Given the description of an element on the screen output the (x, y) to click on. 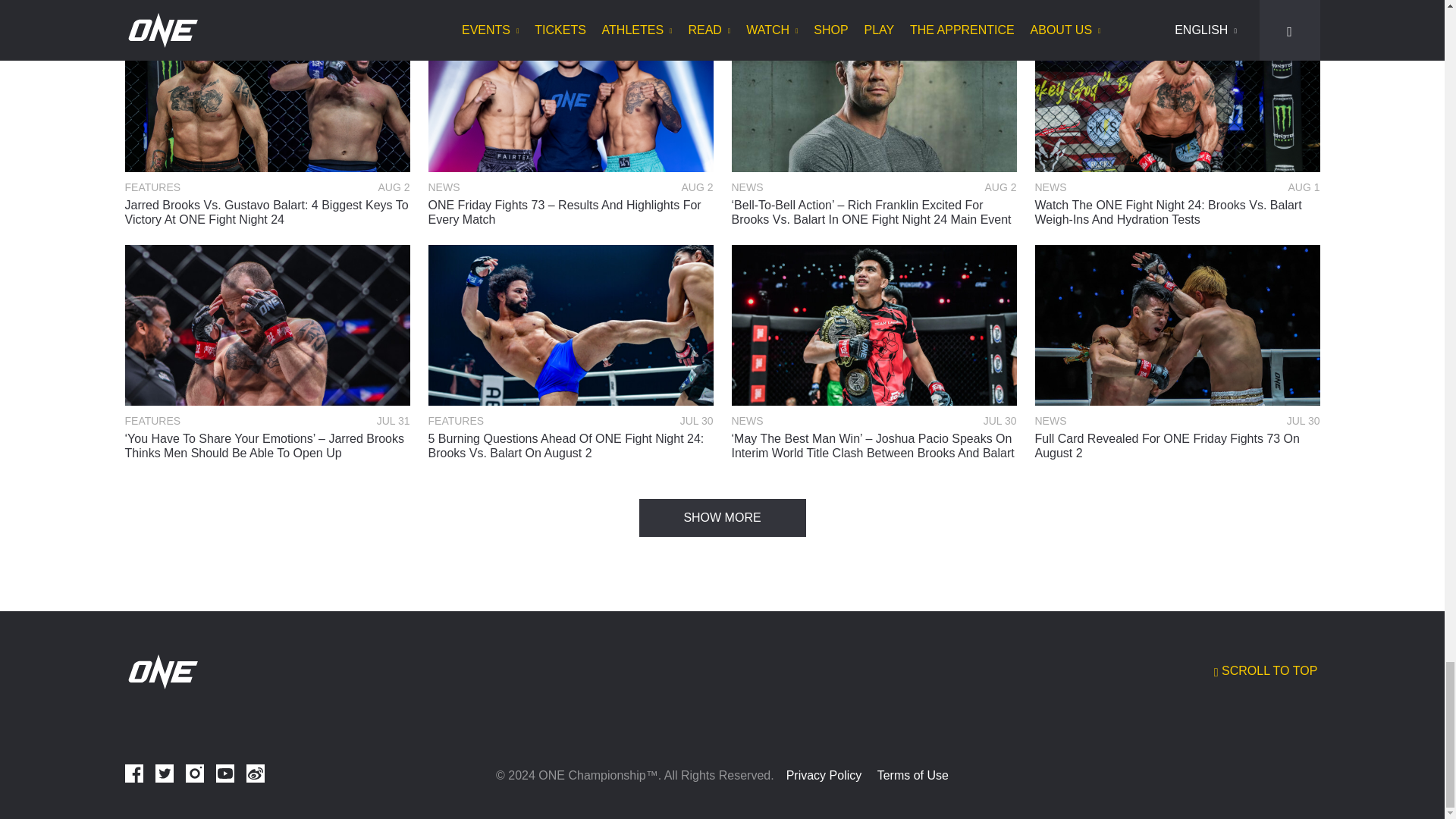
SCROLL TO TOP (1267, 671)
Full Card Revealed For ONE Friday Fights 73 On August 2 (1176, 445)
